Given the description of an element on the screen output the (x, y) to click on. 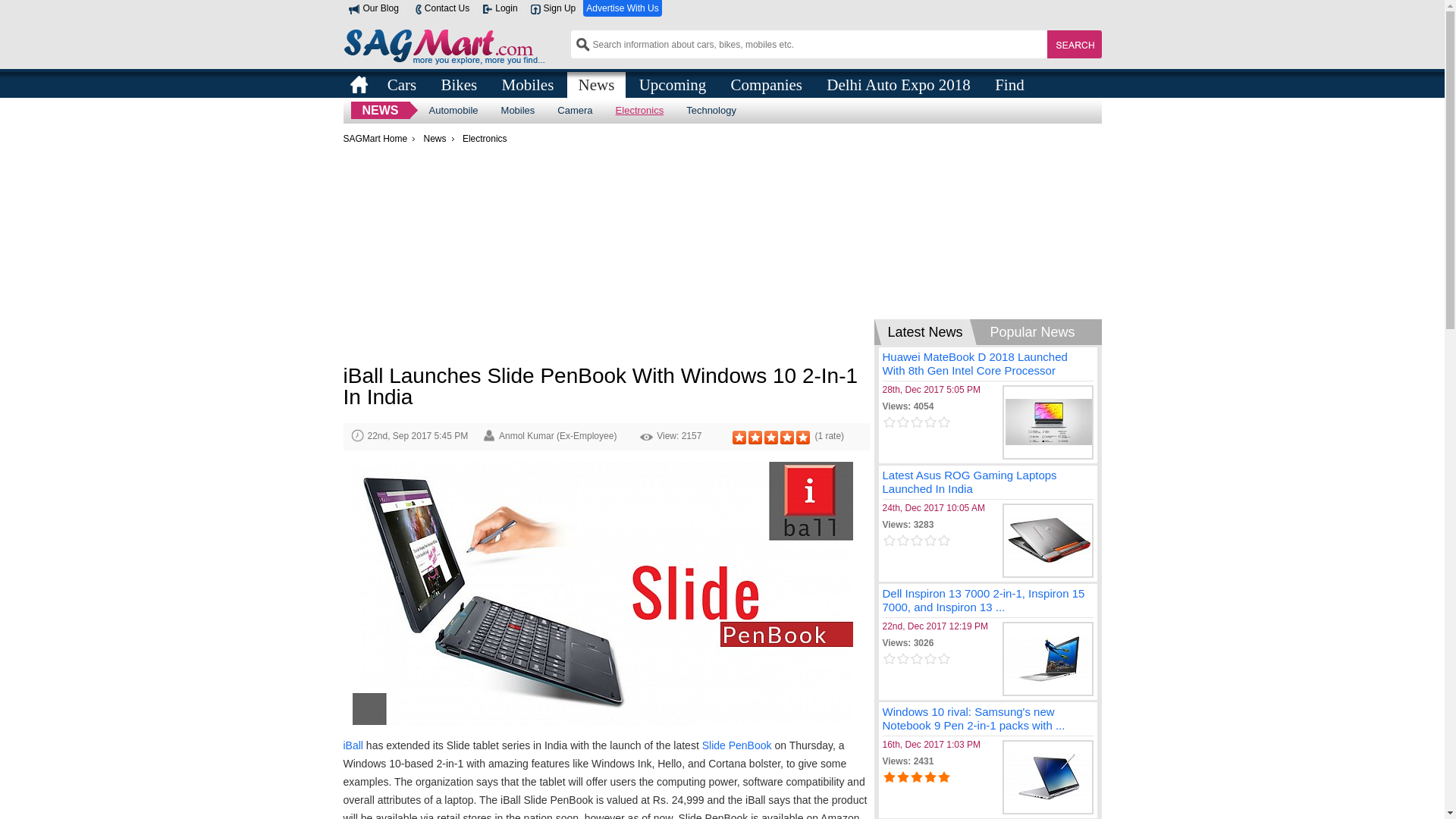
Normal (754, 437)
iBall Slide PenBook (601, 592)
iBall Slide PenBook (601, 595)
Camera (575, 109)
Bikes (458, 84)
Cars (401, 84)
Good (770, 437)
Advertisement (605, 259)
Sign Up (553, 8)
Mobiles (527, 84)
Automobile (452, 109)
Our Blog (372, 8)
Our Blog (372, 8)
Delhi Auto Expo 2018 (898, 84)
Mobiles (518, 109)
